Given the description of an element on the screen output the (x, y) to click on. 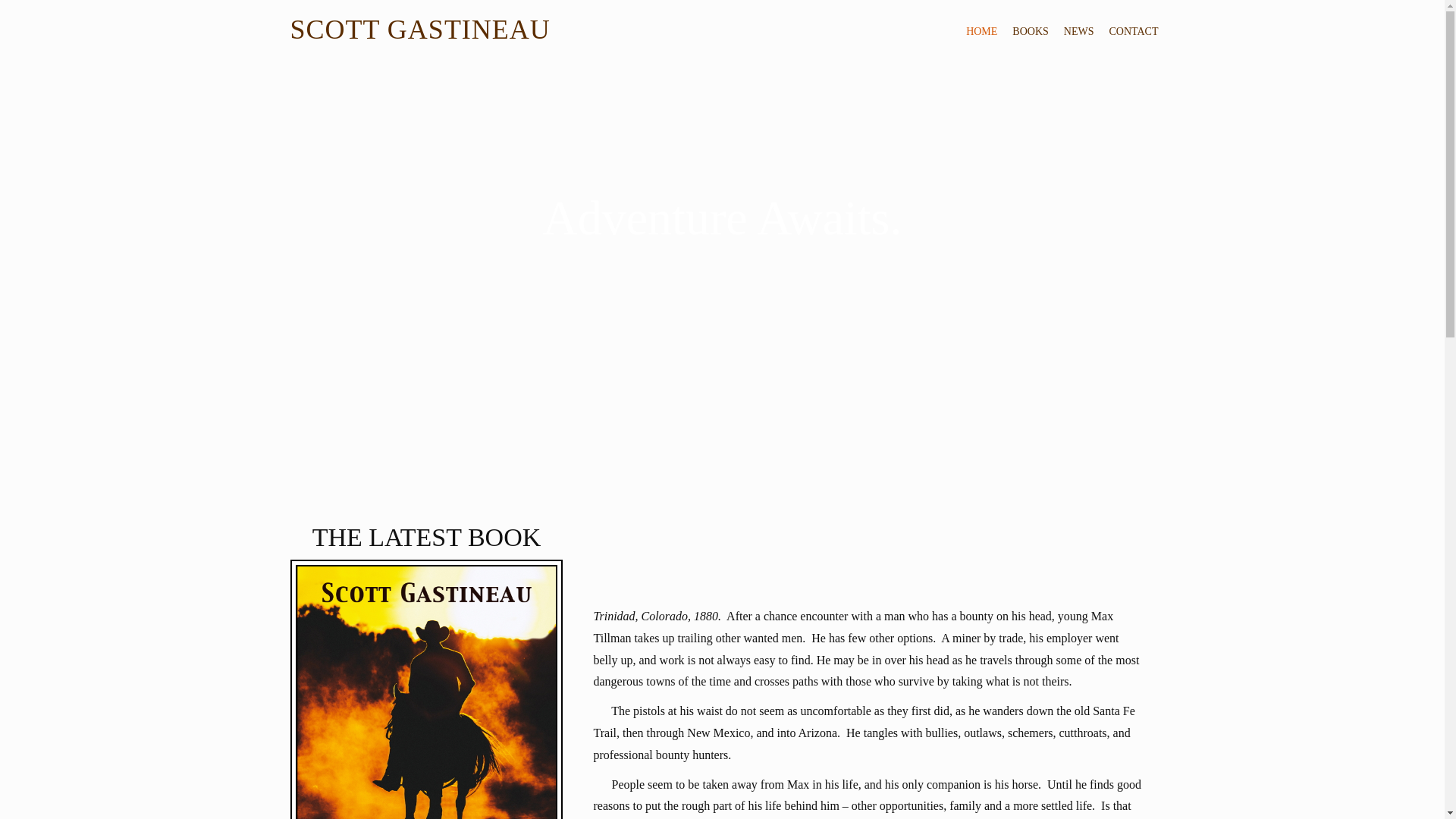
NEWS (1079, 31)
SCOTT GASTINEAU (419, 29)
HOME (981, 31)
BOOKS (1029, 31)
CONTACT (1133, 31)
